Given the description of an element on the screen output the (x, y) to click on. 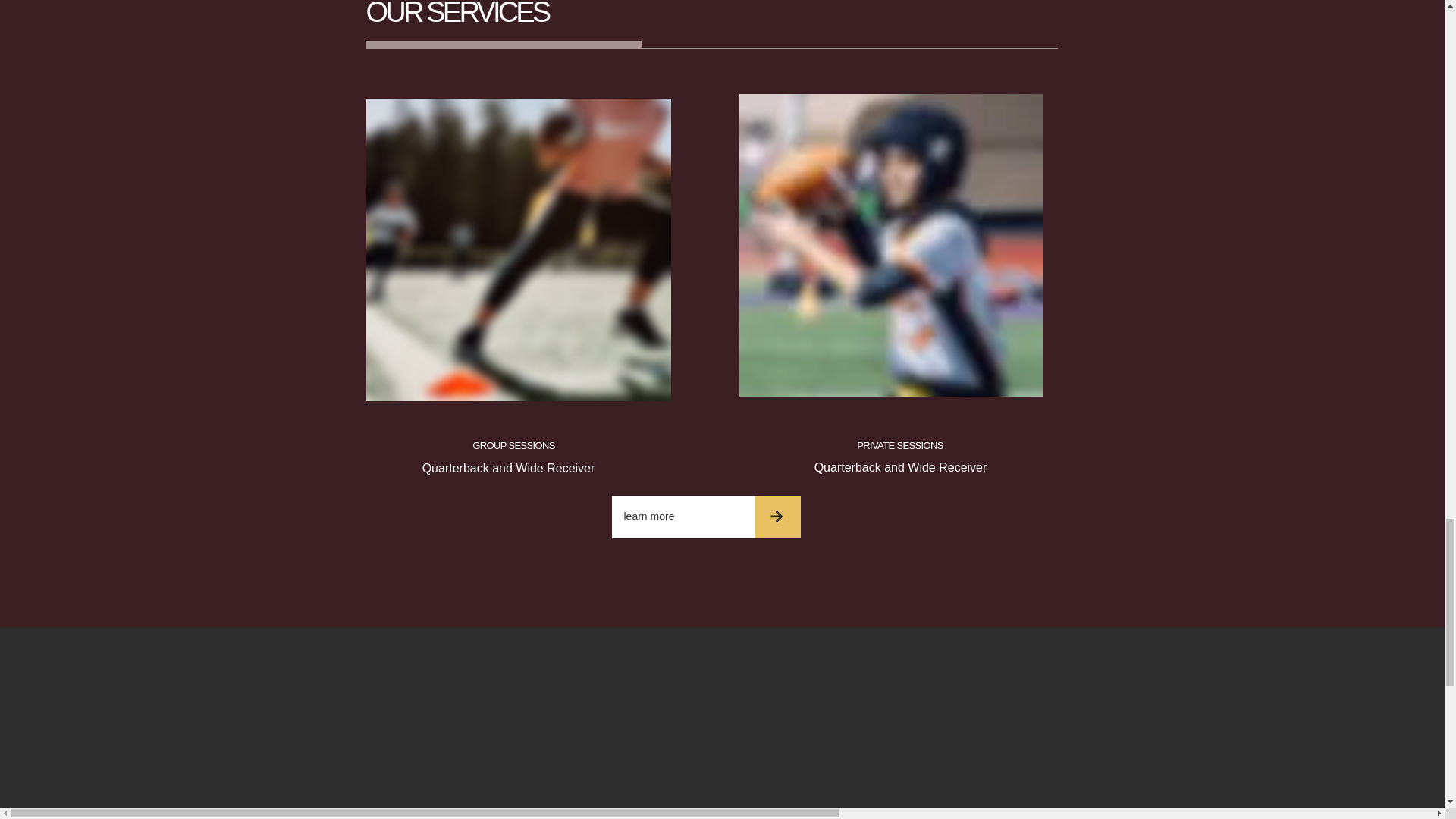
learn more (682, 517)
